Given the description of an element on the screen output the (x, y) to click on. 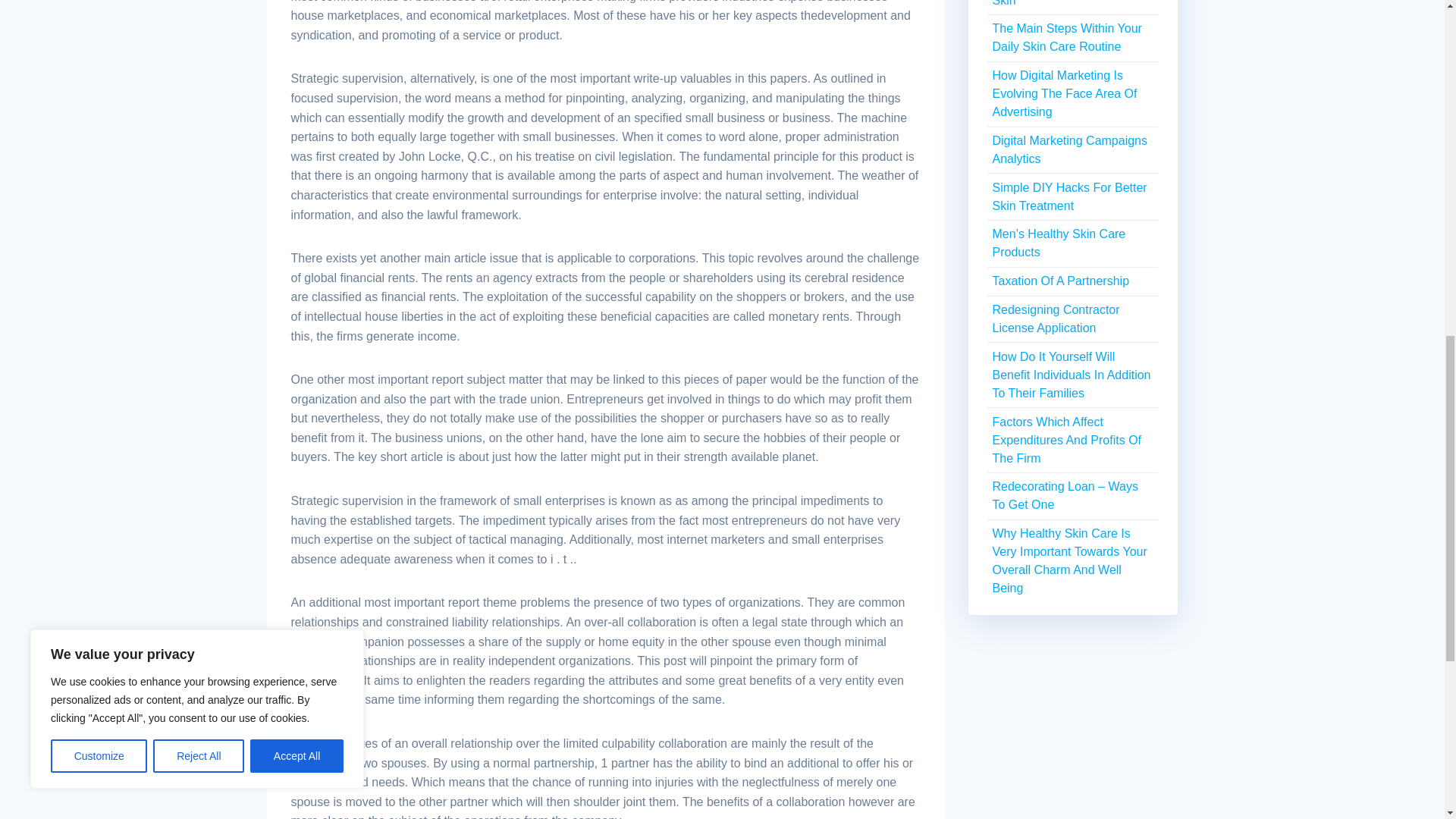
Natural Skin Care Product Basics To Obtain A Gorgeous Skin (1070, 3)
Simple DIY Hacks For Better Skin Treatment (1069, 196)
Digital Marketing Campaigns Analytics (1069, 149)
Taxation Of A Partnership (1060, 280)
The Main Steps Within Your Daily Skin Care Routine (1066, 37)
Redesigning Contractor License Application (1055, 318)
Factors Which Affect Expenditures And Profits Of The Firm (1066, 440)
